Given the description of an element on the screen output the (x, y) to click on. 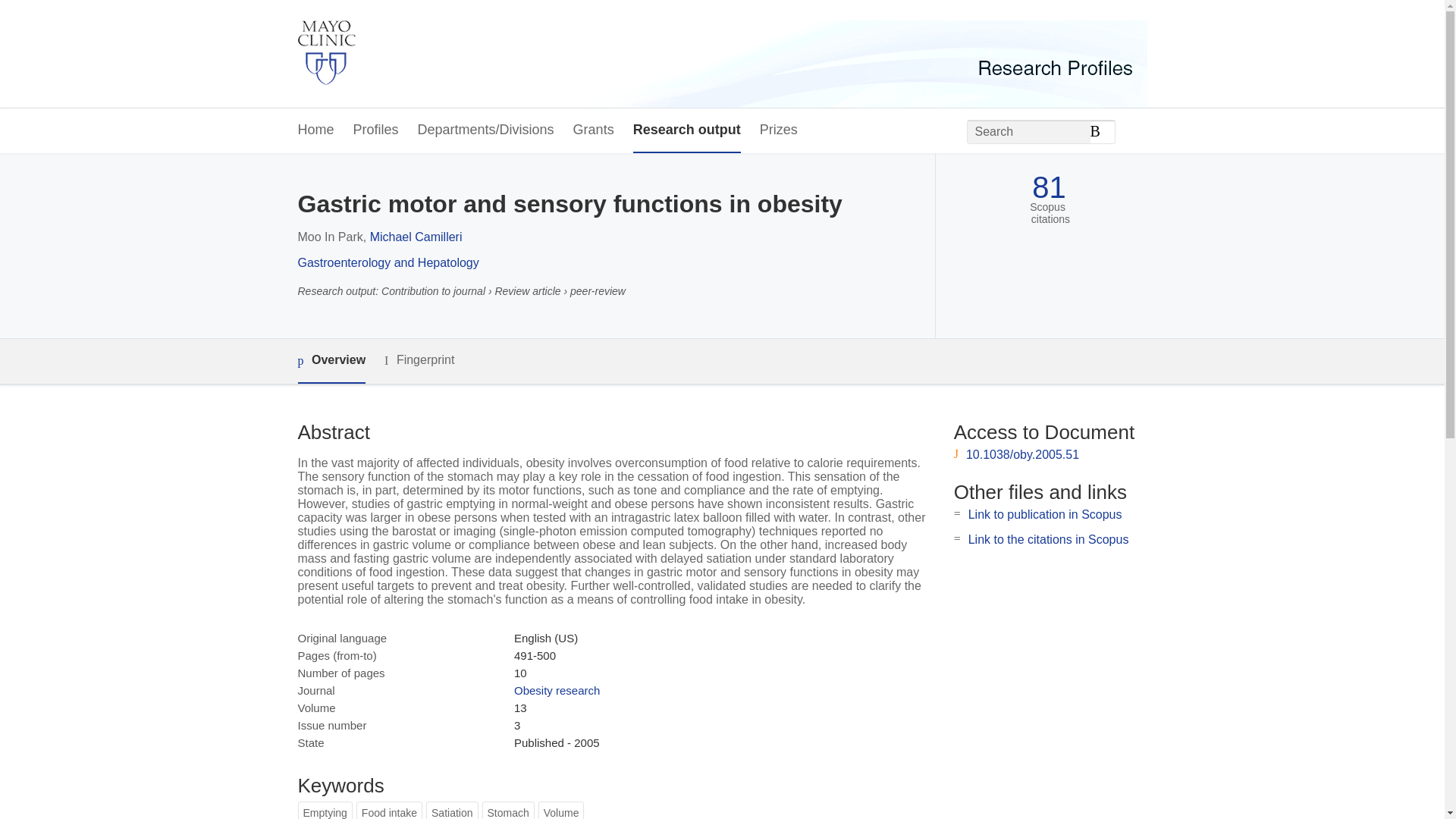
Obesity research (556, 689)
Fingerprint (419, 360)
81 (1048, 187)
Michael Camilleri (416, 236)
Grants (593, 130)
Link to publication in Scopus (1045, 513)
Link to the citations in Scopus (1048, 539)
Overview (331, 361)
Research output (687, 130)
